Given the description of an element on the screen output the (x, y) to click on. 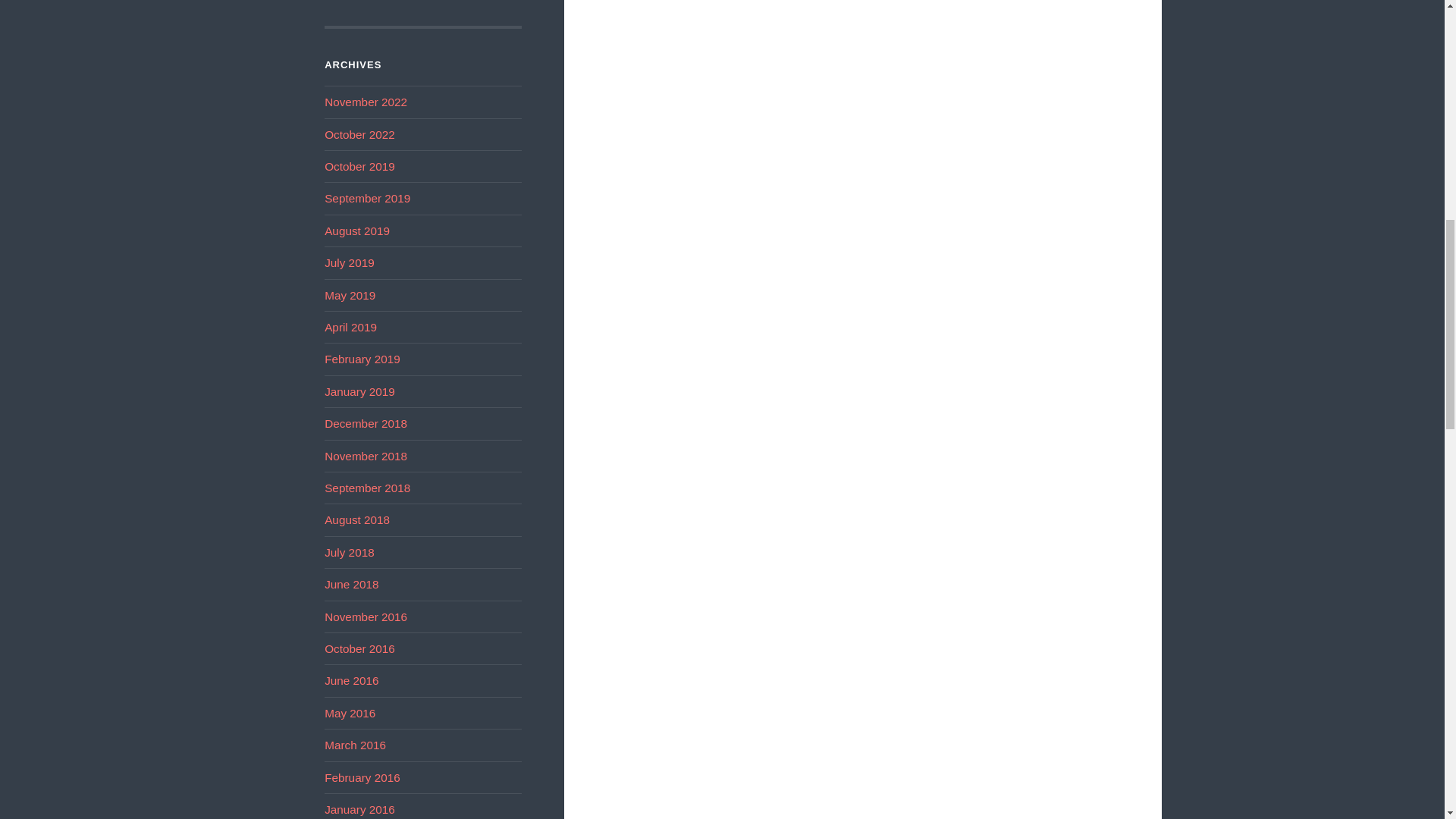
February 2019 (362, 358)
March 2016 (354, 744)
January 2019 (359, 391)
August 2018 (357, 519)
May 2016 (349, 712)
May 2019 (349, 295)
September 2018 (367, 487)
July 2019 (349, 262)
June 2018 (351, 584)
July 2018 (349, 552)
October 2016 (359, 648)
September 2019 (367, 197)
January 2016 (359, 809)
November 2016 (365, 616)
October 2019 (359, 165)
